Given the description of an element on the screen output the (x, y) to click on. 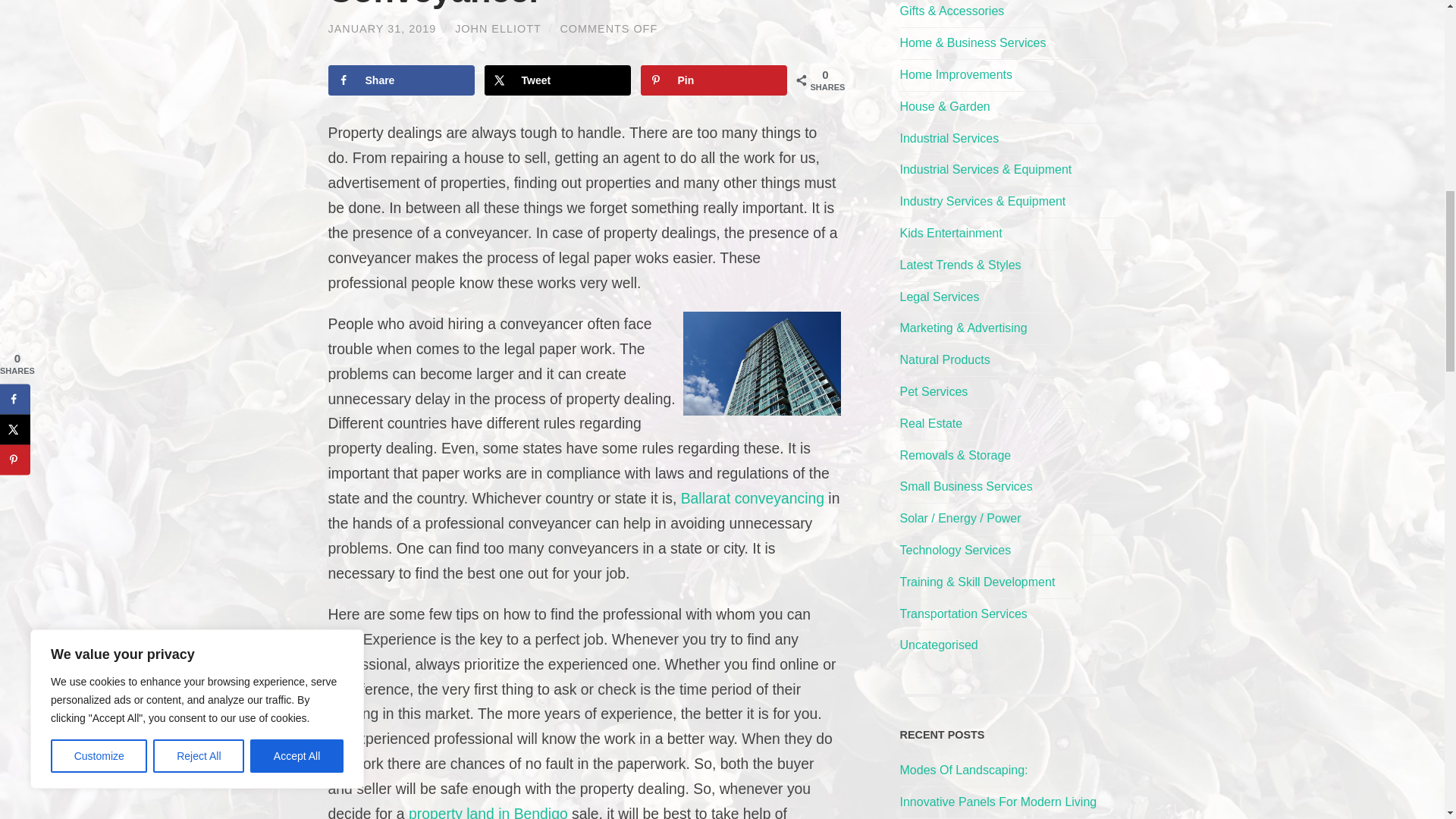
JANUARY 31, 2019 (381, 28)
Ballarat conveyancing (752, 497)
Share on X (557, 80)
property.jpg (761, 363)
Pin (713, 80)
Share (400, 80)
JOHN ELLIOTT (497, 28)
property land in Bendigo (488, 812)
Tweet (557, 80)
Reasons To Hire A Property Conveyancer (551, 4)
Reasons To Hire A Property Conveyancer (551, 4)
Share on Facebook (400, 80)
Save to Pinterest (713, 80)
Posts by John Elliott (497, 28)
Reasons To Hire A Property Conveyancer (381, 28)
